Given the description of an element on the screen output the (x, y) to click on. 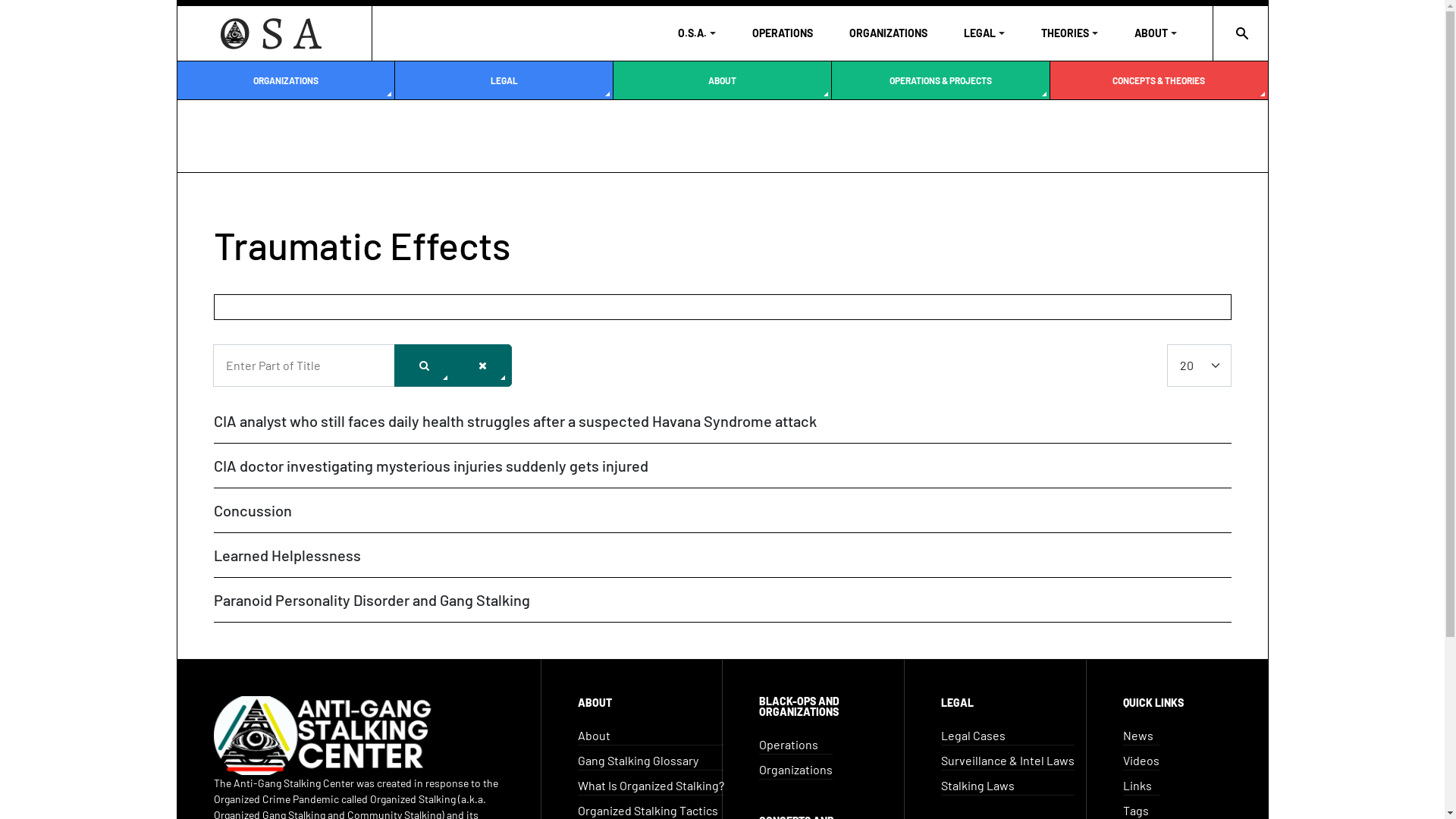
Clear Element type: hover (482, 365)
THEORIES Element type: text (1068, 33)
Anti-Gang Stalking Center Element type: hover (274, 32)
Paranoid Personality Disorder and Gang Stalking Element type: text (371, 599)
Stalking Laws Element type: text (1007, 785)
Gang Stalking Glossary Element type: text (650, 760)
Organizations Element type: text (795, 769)
About Element type: text (650, 735)
O.S.A. Element type: text (696, 33)
Learned Helplessness Element type: text (286, 555)
ORGANIZATIONS Element type: text (286, 80)
Surveillance & Intel Laws Element type: text (1007, 760)
CONCEPTS & THEORIES Element type: text (1158, 80)
ABOUT Element type: text (722, 80)
What Is Organized Stalking? Element type: text (650, 785)
OPERATIONS & PROJECTS Element type: text (940, 80)
Concussion Element type: text (252, 510)
News Element type: text (1141, 735)
LEGAL Element type: text (503, 80)
Links Element type: text (1141, 785)
OPERATIONS Element type: text (782, 33)
Videos Element type: text (1141, 760)
Operations Element type: text (795, 744)
ORGANIZATIONS Element type: text (888, 33)
ABOUT Element type: text (1155, 33)
Legal Cases Element type: text (1007, 735)
LEGAL Element type: text (983, 33)
Search Element type: hover (424, 365)
